Given the description of an element on the screen output the (x, y) to click on. 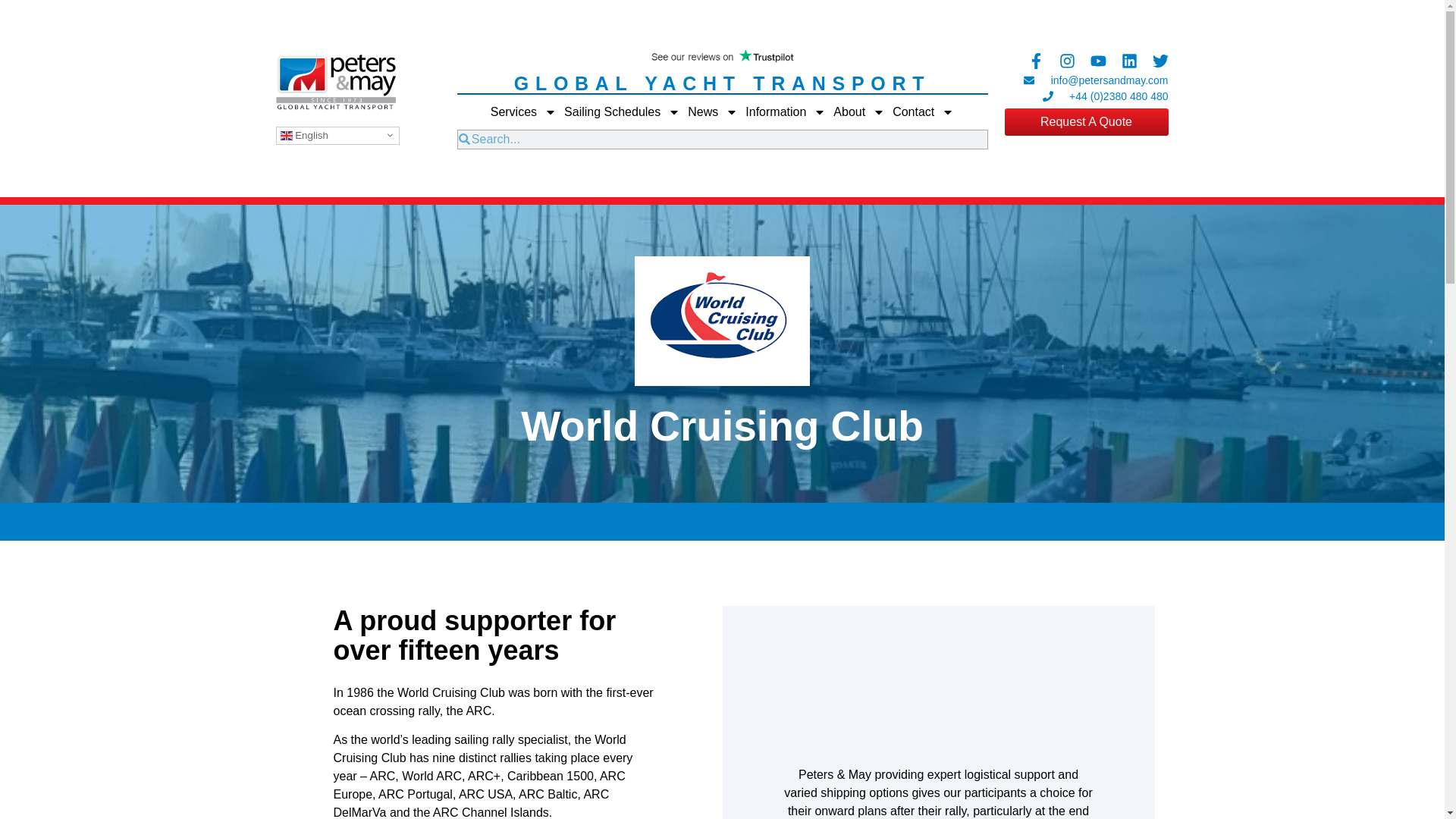
English (337, 135)
Sailing Schedules (621, 111)
Services (523, 111)
Information (785, 111)
About (858, 111)
Contact (922, 111)
News (712, 111)
